Given the description of an element on the screen output the (x, y) to click on. 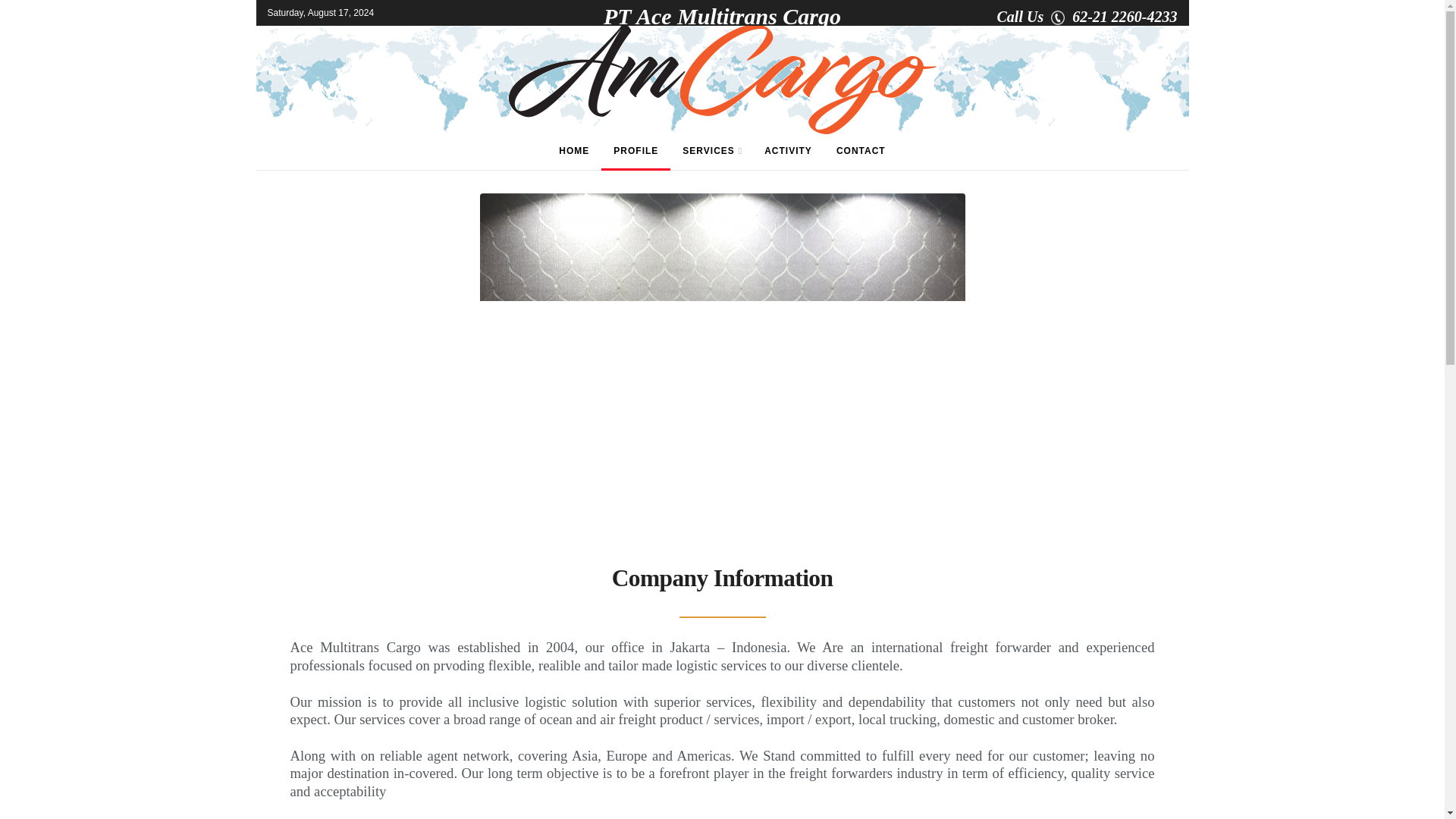
CONTACT (861, 150)
SERVICES (710, 150)
HOME (574, 150)
PROFILE (635, 150)
ACTIVITY (788, 150)
